Given the description of an element on the screen output the (x, y) to click on. 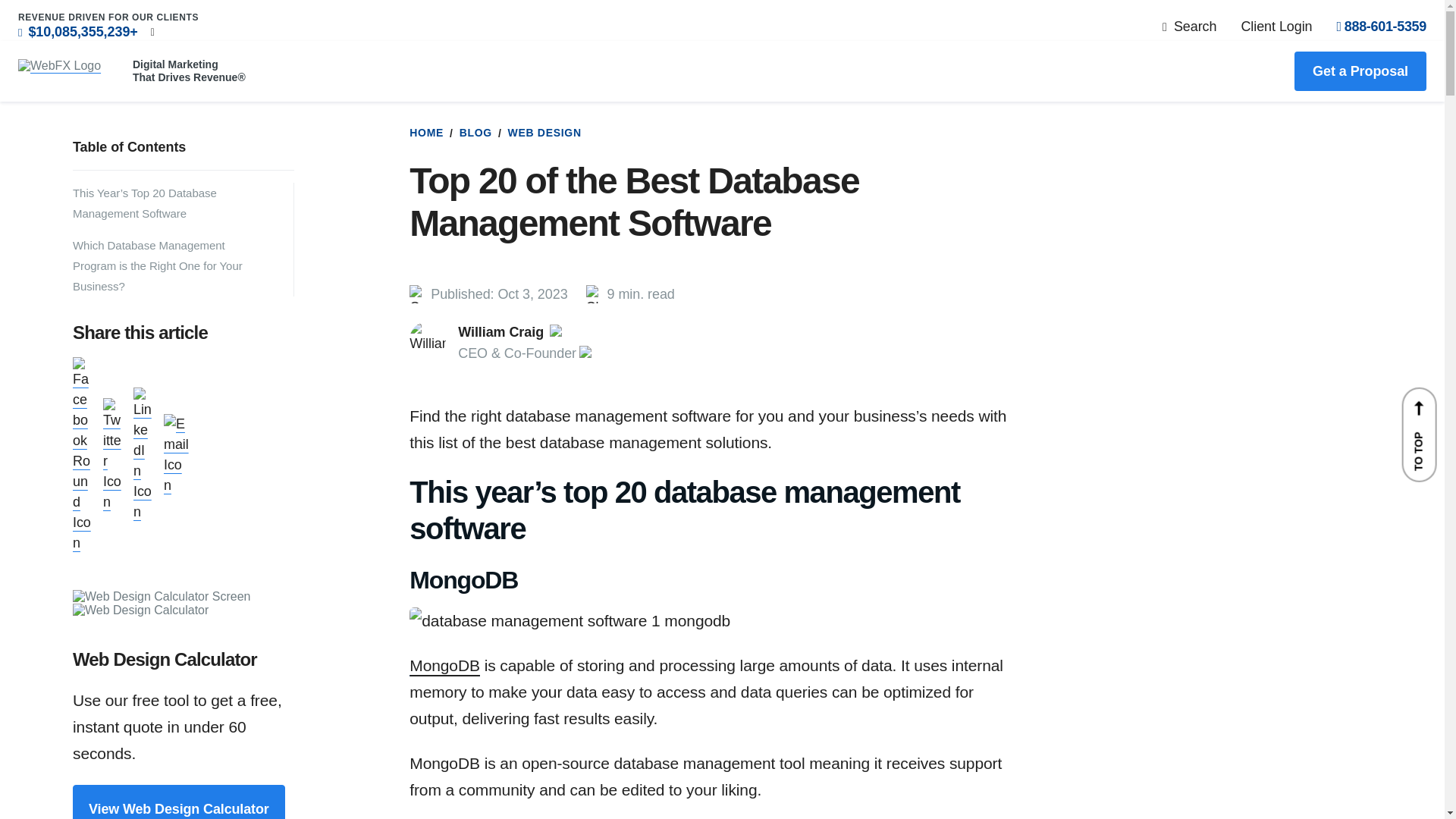
888-601-5359 (1381, 26)
WEB DESIGN (541, 132)
Share the article on Facebook (81, 542)
Share the article via Email (176, 485)
BLOG (472, 132)
HOME (426, 132)
Share the article on Twitter (111, 501)
Author's Bio (526, 342)
Search (1189, 26)
Share the article on LinkedIn (142, 511)
